Given the description of an element on the screen output the (x, y) to click on. 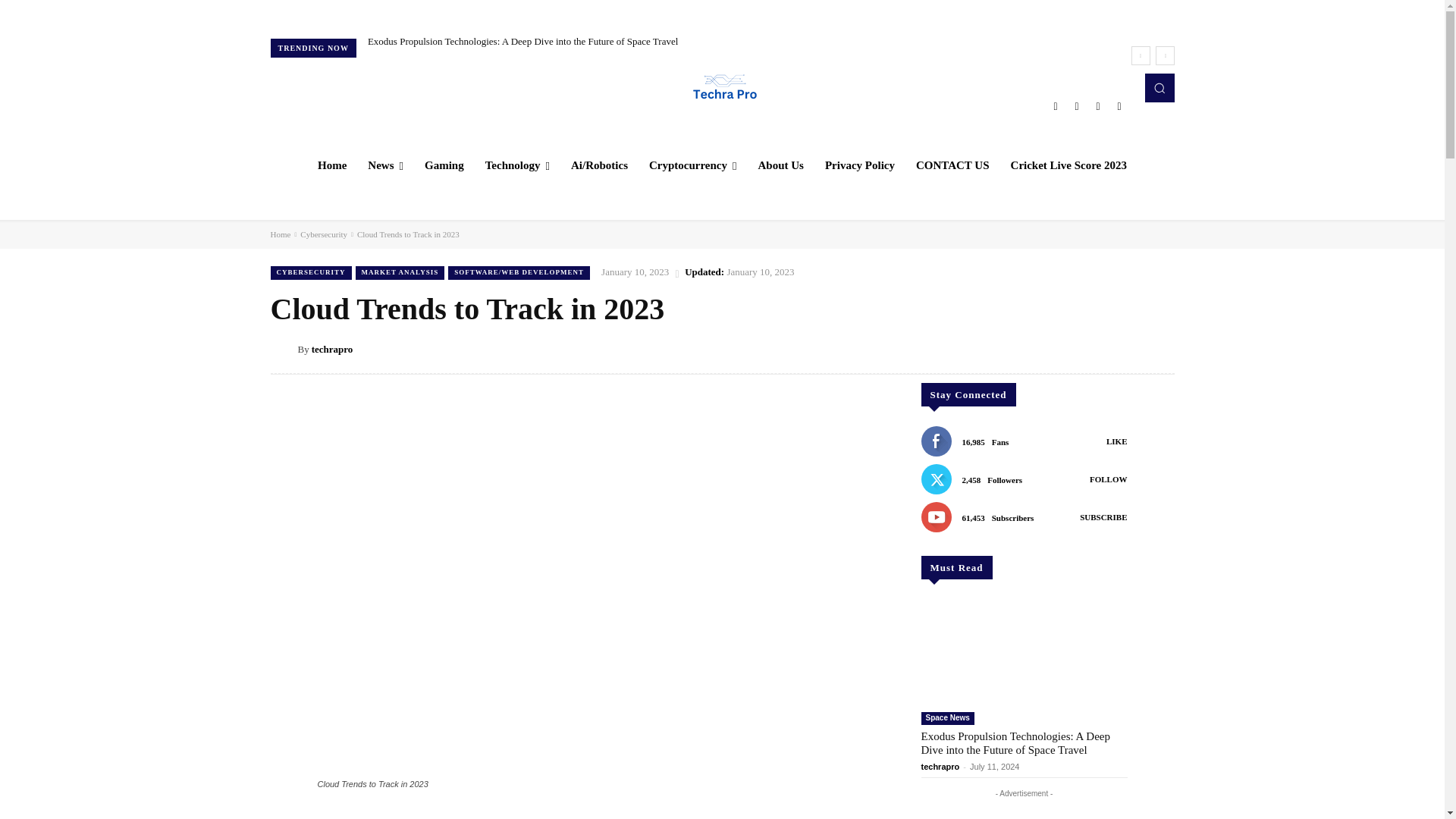
Twitter (1097, 106)
Facebook (1055, 106)
Instagram (1076, 106)
